Given the description of an element on the screen output the (x, y) to click on. 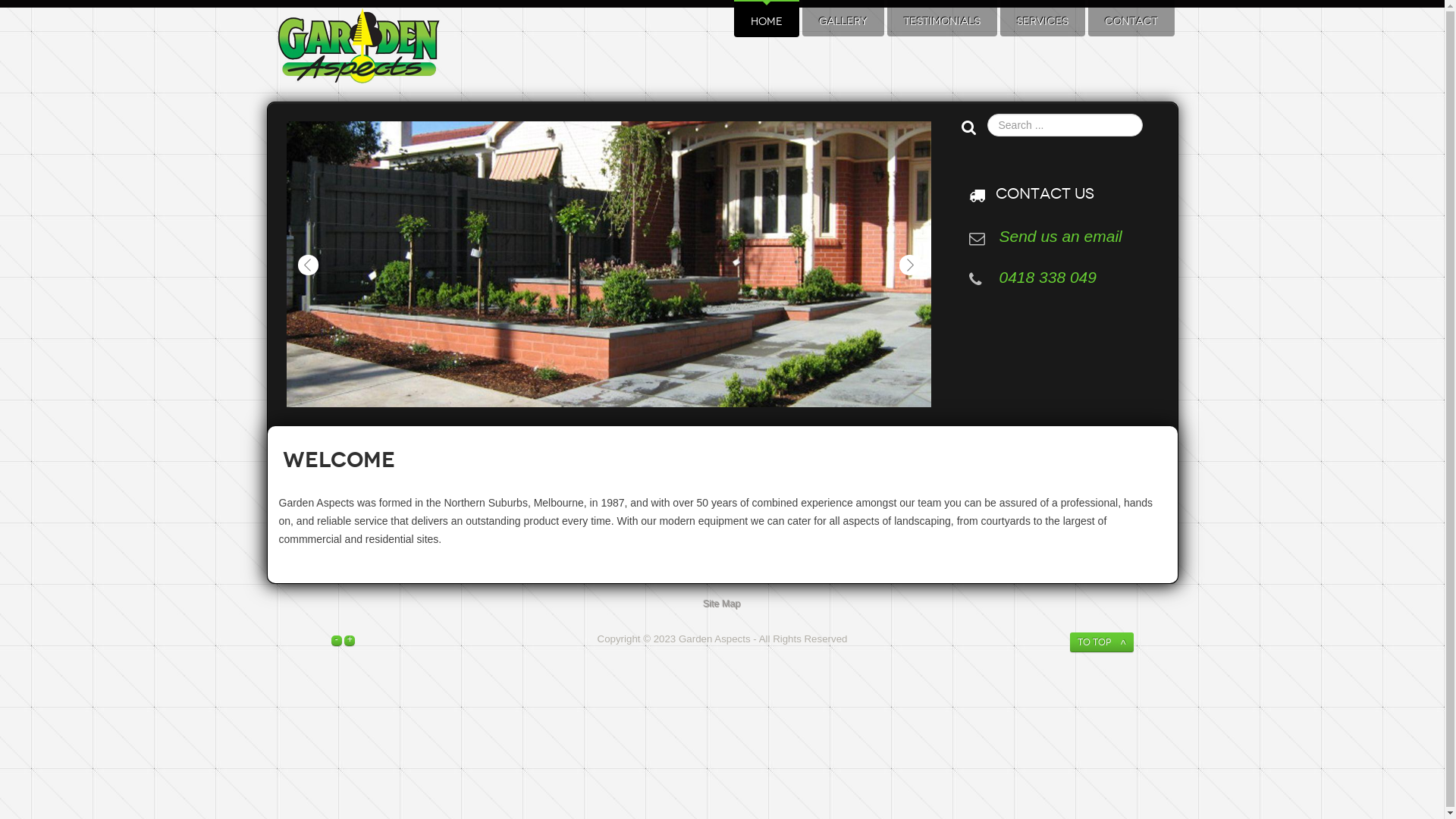
Decrease Font Size Element type: hover (336, 638)
SERVICES Element type: text (1041, 21)
HOME Element type: text (766, 21)
To Top Element type: text (1100, 642)
CONTACT Element type: text (1130, 21)
Send us an email Element type: text (1060, 235)
TESTIMONIALS Element type: text (942, 21)
Increase Font Size Element type: hover (349, 638)
GALLERY Element type: text (843, 21)
Site Map Element type: text (722, 603)
0418 338 049 Element type: text (1047, 276)
